Given the description of an element on the screen output the (x, y) to click on. 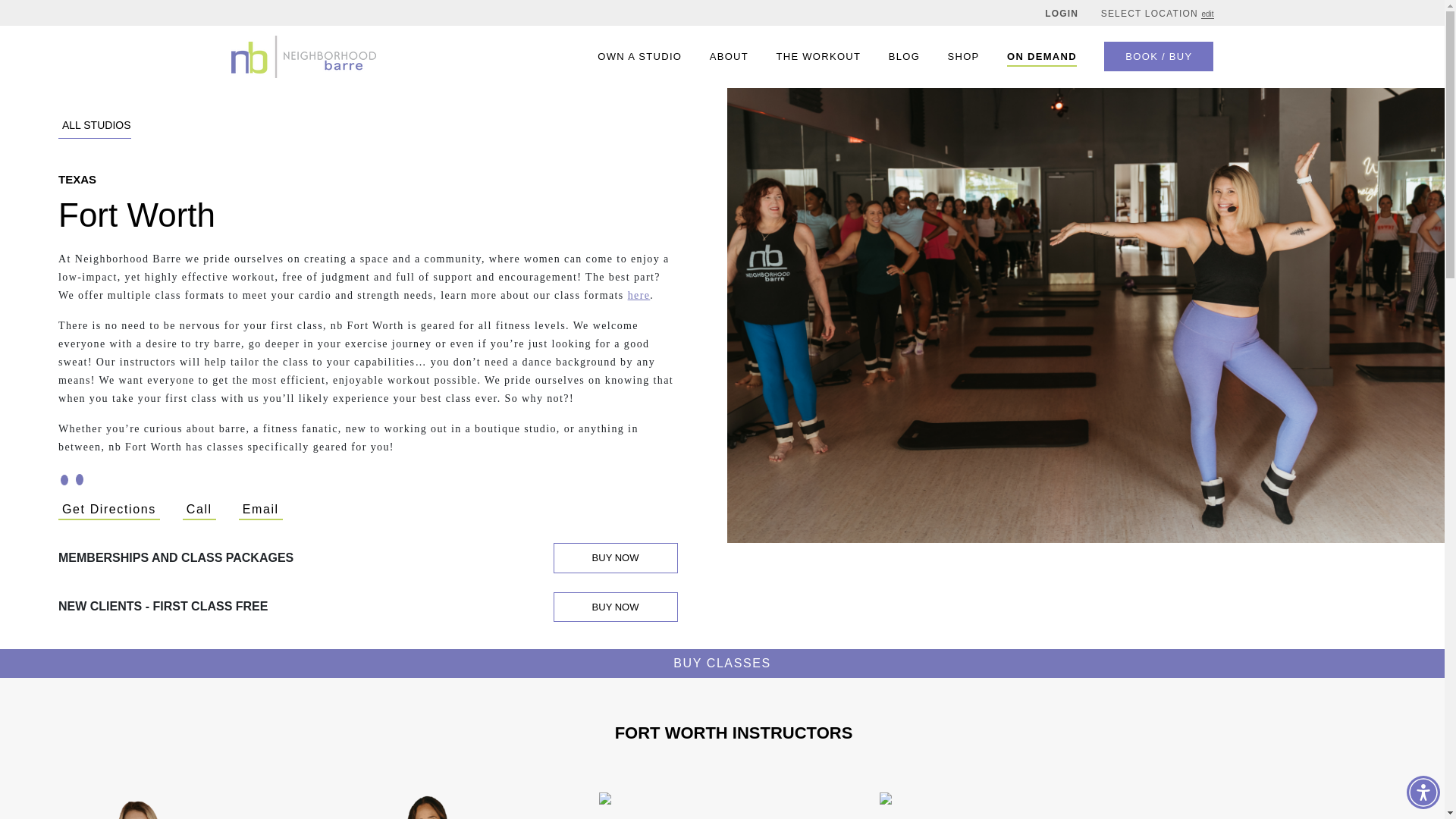
ABOUT (729, 56)
BLOG (904, 56)
BUY NOW (615, 557)
Accessibility Menu (1422, 792)
BUY NOW (615, 606)
THE WORKOUT (818, 56)
here (94, 126)
Call (638, 295)
OWN A STUDIO (199, 510)
SHOP (638, 56)
LOGIN (963, 56)
Get Directions (1061, 13)
Email (109, 510)
ON DEMAND (260, 510)
